Given the description of an element on the screen output the (x, y) to click on. 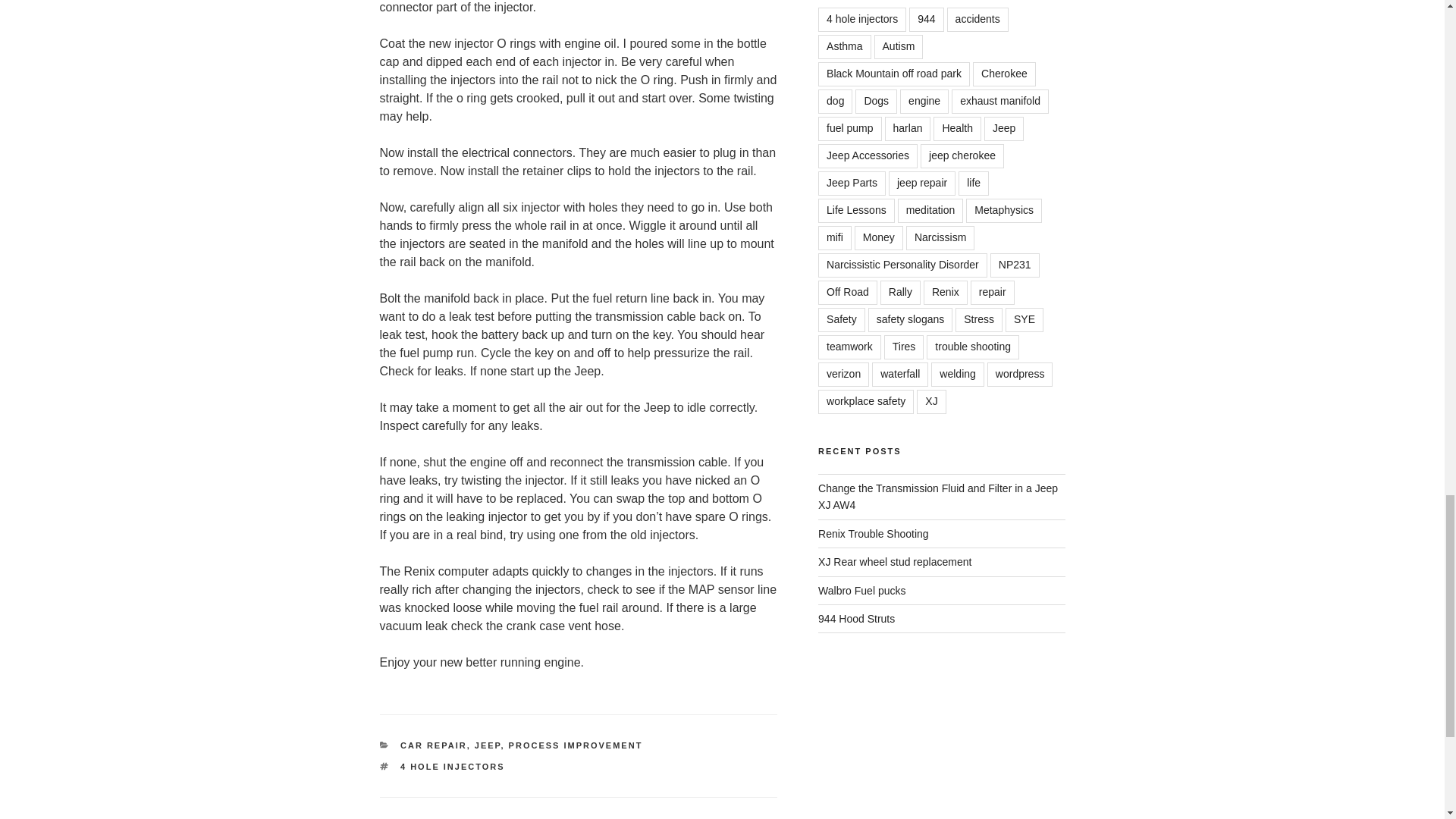
JEEP (487, 745)
PROCESS IMPROVEMENT (575, 745)
4 HOLE INJECTORS (452, 766)
CAR REPAIR (433, 745)
